Given the description of an element on the screen output the (x, y) to click on. 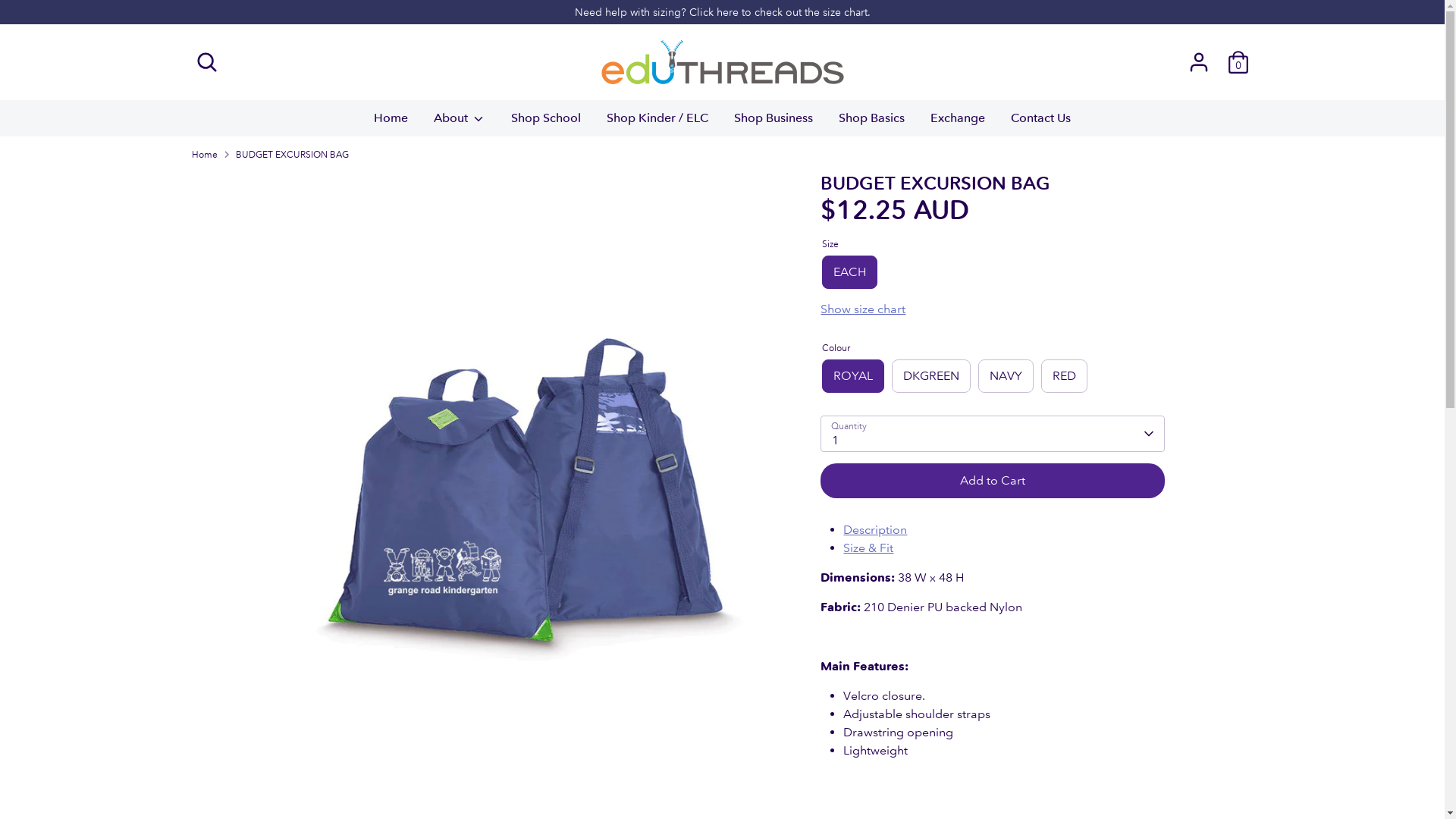
Add to Cart Element type: text (992, 480)
Show size chart Element type: text (992, 309)
Shop Business Element type: text (773, 122)
Description Element type: text (874, 529)
1 Element type: text (992, 433)
Size & Fit Element type: text (868, 547)
BUDGET EXCURSION BAG Element type: text (291, 154)
Exchange Element type: text (957, 122)
Home Element type: text (390, 122)
Home Element type: text (203, 154)
Contact Us Element type: text (1040, 122)
Shop Kinder / ELC Element type: text (657, 122)
Shop Basics Element type: text (871, 122)
Shop School Element type: text (545, 122)
About Element type: text (459, 122)
Search Element type: text (206, 62)
0 Element type: text (1237, 62)
